Given the description of an element on the screen output the (x, y) to click on. 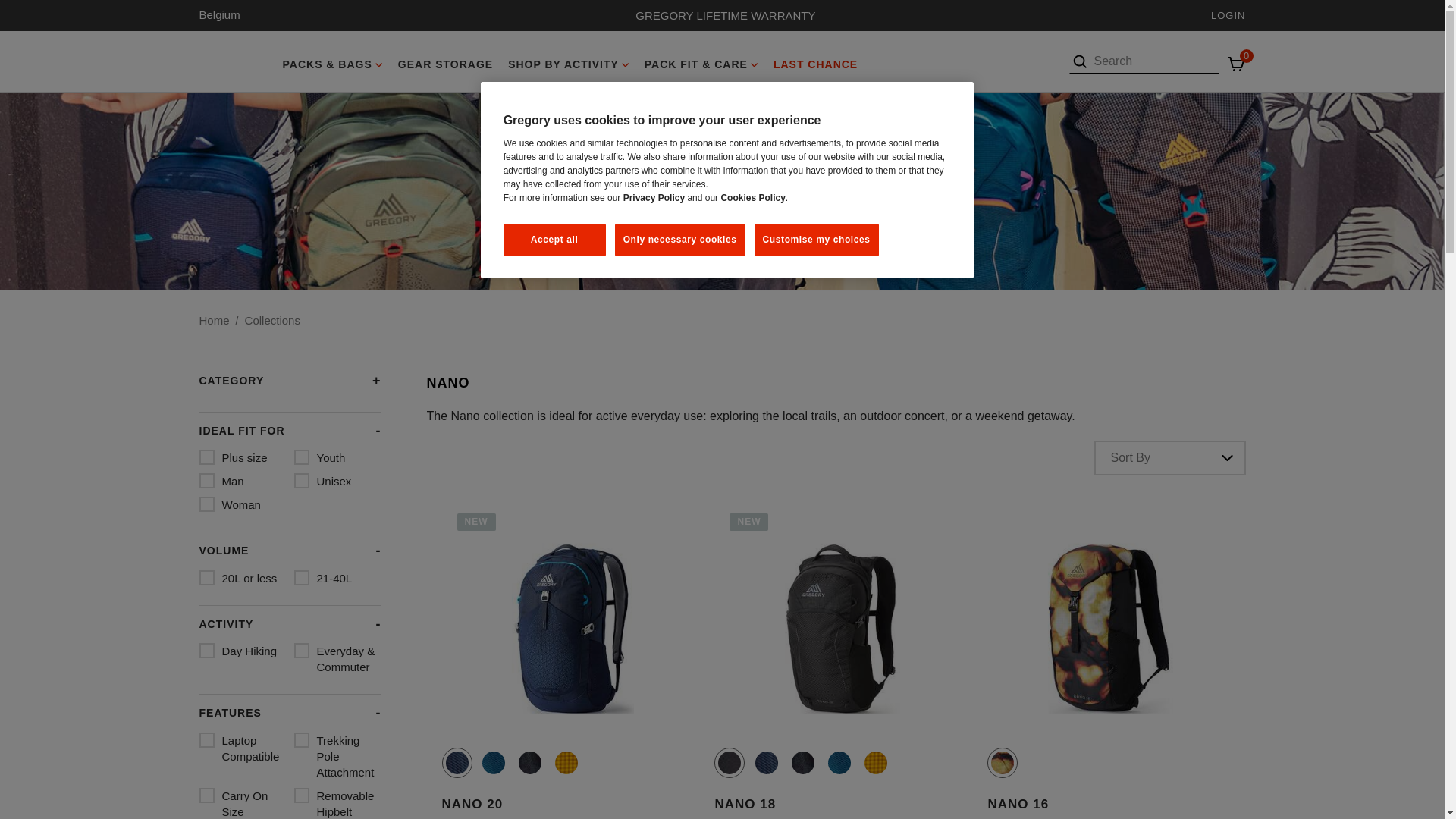
Refine by VOLUME: 21-40L (337, 578)
Refine by IDEAL FIT FOR: Unisex (337, 480)
Gregory (232, 61)
Refine by IDEAL FIT FOR: Woman (241, 504)
Refine by VOLUME: 20L or less (241, 578)
Refine by Features: Removable Hipbelt (337, 803)
LOGIN (1227, 15)
Refine by IDEAL FIT FOR: Youth (337, 457)
Refine by Features: Carry On Size (241, 803)
Refine by IDEAL FIT FOR: Man (241, 480)
SHOP BY ACTIVITY (568, 61)
GEAR STORAGE (445, 61)
Refine by Features: Trekking Pole Attachment (337, 756)
Refine by IDEAL FIT FOR: Plus size (241, 457)
Refine by Activity: Day Hiking (241, 650)
